Given the description of an element on the screen output the (x, y) to click on. 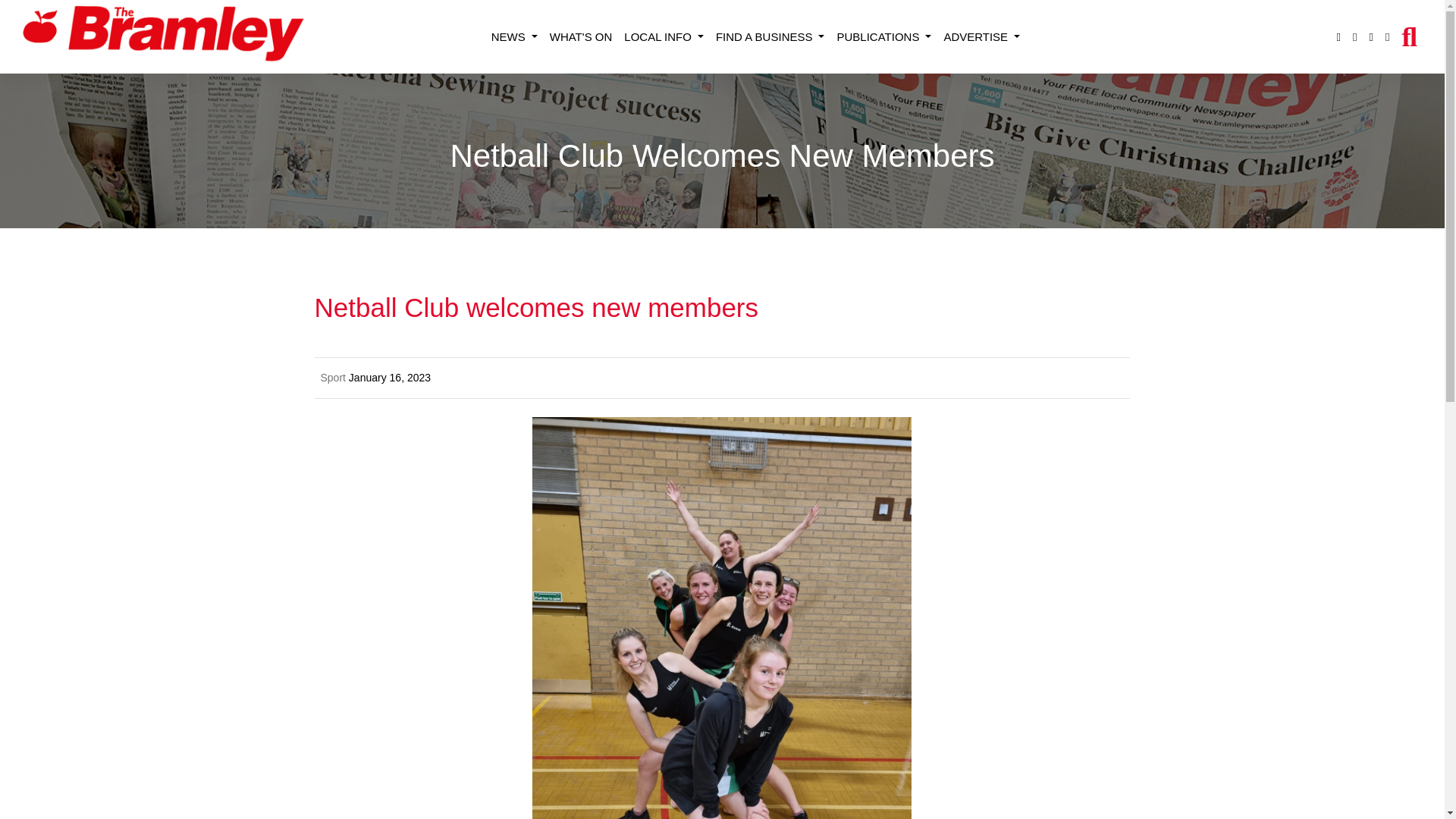
FIND A BUSINESS (770, 37)
What's On (580, 37)
LOCAL INFO (663, 37)
PUBLICATIONS (883, 37)
NEWS (513, 37)
ADVERTISE (981, 37)
WHAT'S ON (580, 37)
